Given the description of an element on the screen output the (x, y) to click on. 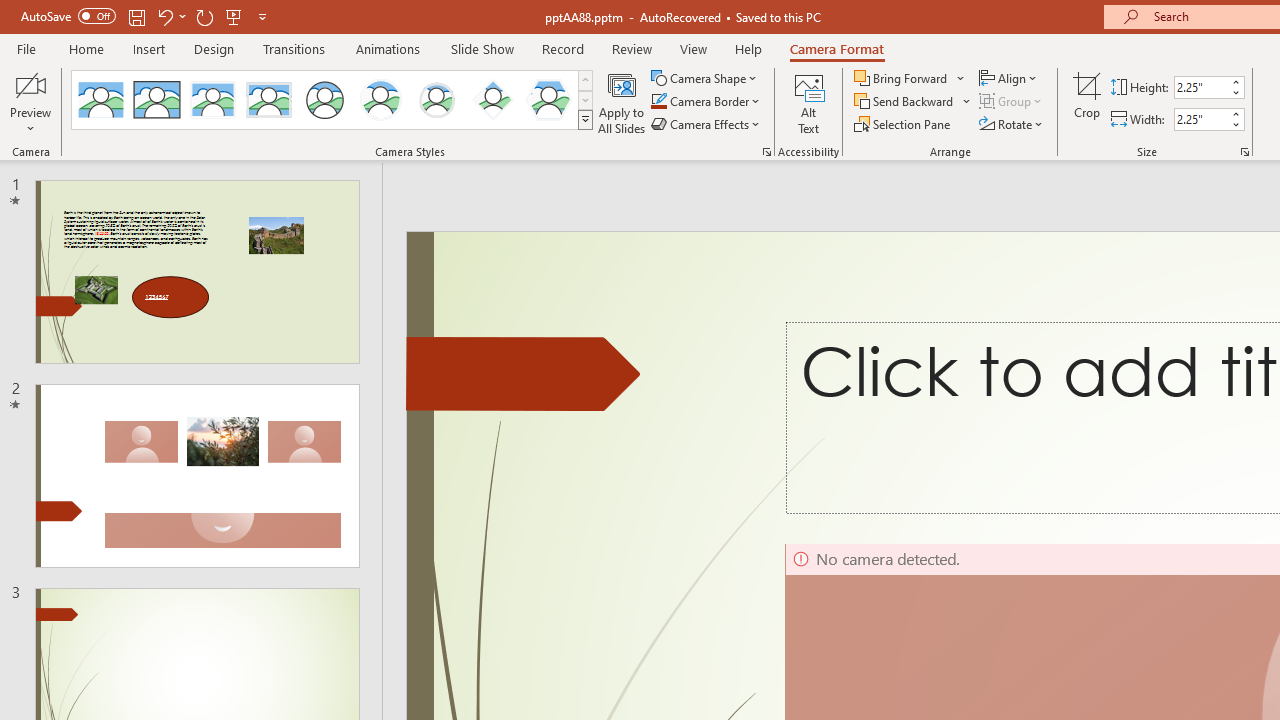
Camera Styles (585, 120)
Cameo Width (1201, 119)
Soft Edge Circle (436, 100)
Send Backward (913, 101)
Simple Frame Rectangle (157, 100)
Bring Forward (902, 78)
Camera Shape (705, 78)
Enable Camera Preview (30, 84)
